Given the description of an element on the screen output the (x, y) to click on. 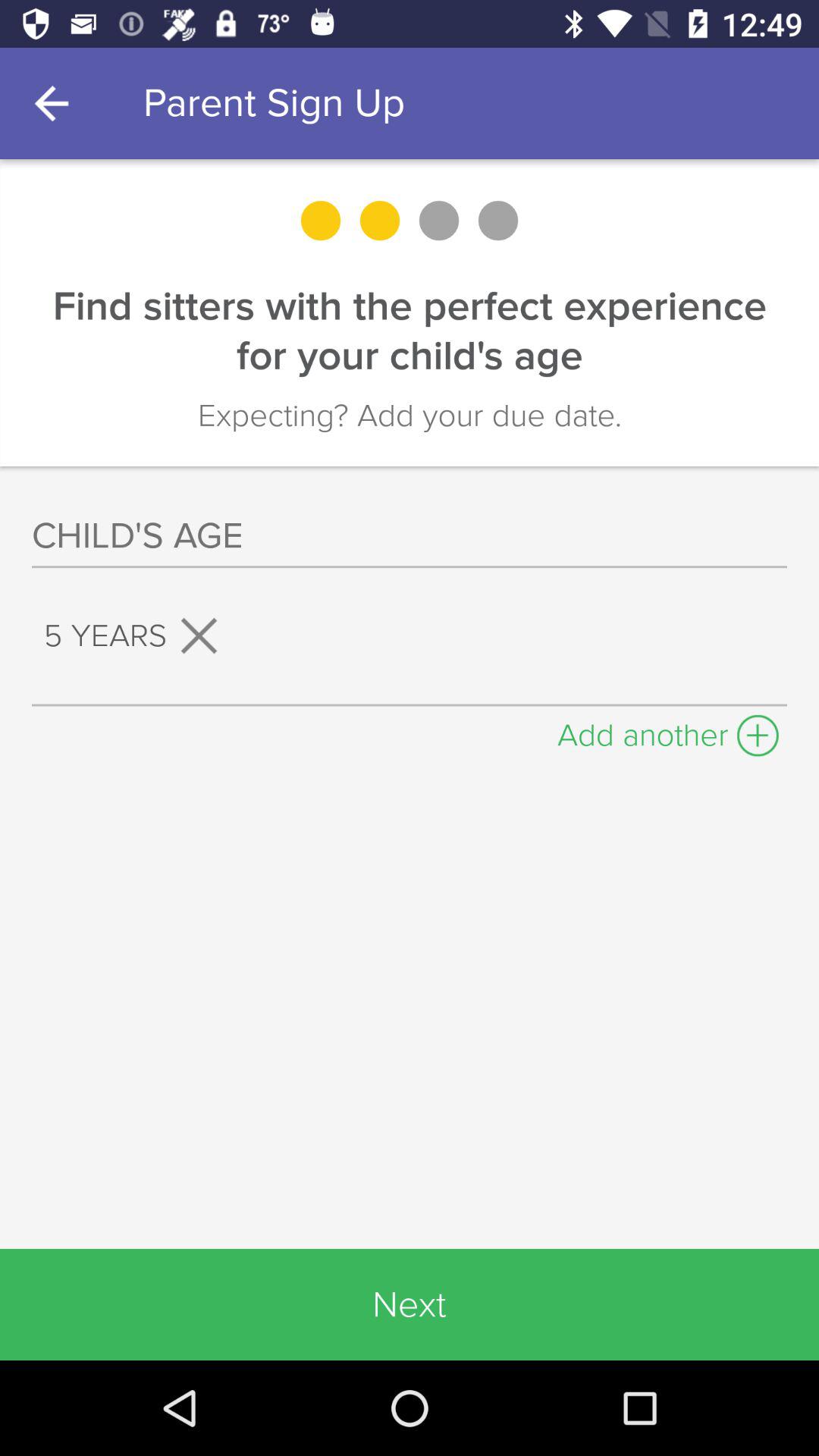
launch item at the top left corner (55, 103)
